Given the description of an element on the screen output the (x, y) to click on. 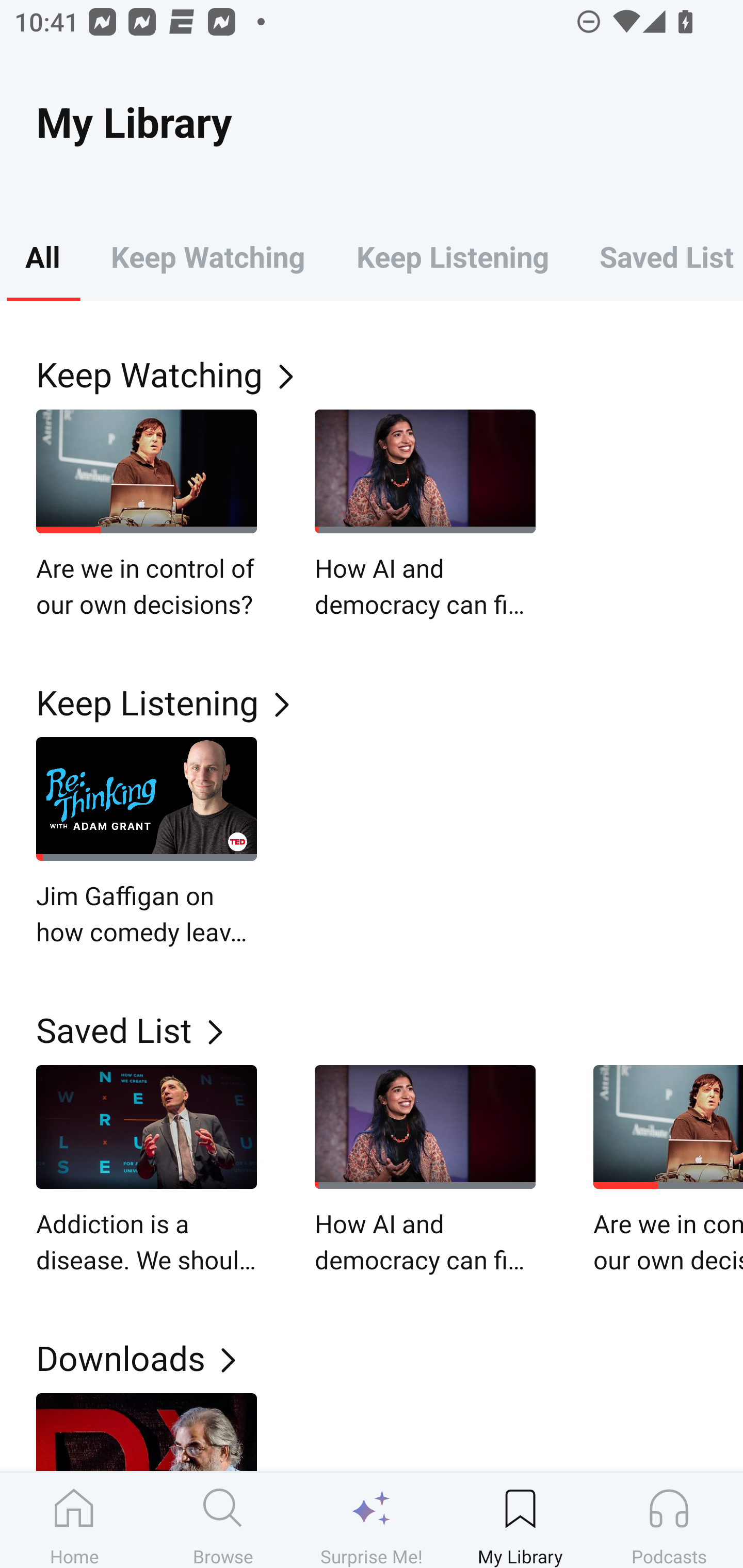
All (42, 256)
Keep Watching (207, 256)
Keep Listening (452, 256)
Saved List (658, 256)
Keep Watching (389, 373)
Are we in control of our own decisions? (146, 514)
How AI and democracy can fix each other (425, 514)
Keep Listening (389, 702)
Jim Gaffigan on how comedy leaves an aftertaste (146, 843)
Saved List (389, 1029)
How AI and democracy can fix each other (425, 1170)
Are we in control of our own decisions? (668, 1170)
Downloads (389, 1357)
Home (74, 1520)
Browse (222, 1520)
Surprise Me! (371, 1520)
My Library (519, 1520)
Podcasts (668, 1520)
